Given the description of an element on the screen output the (x, y) to click on. 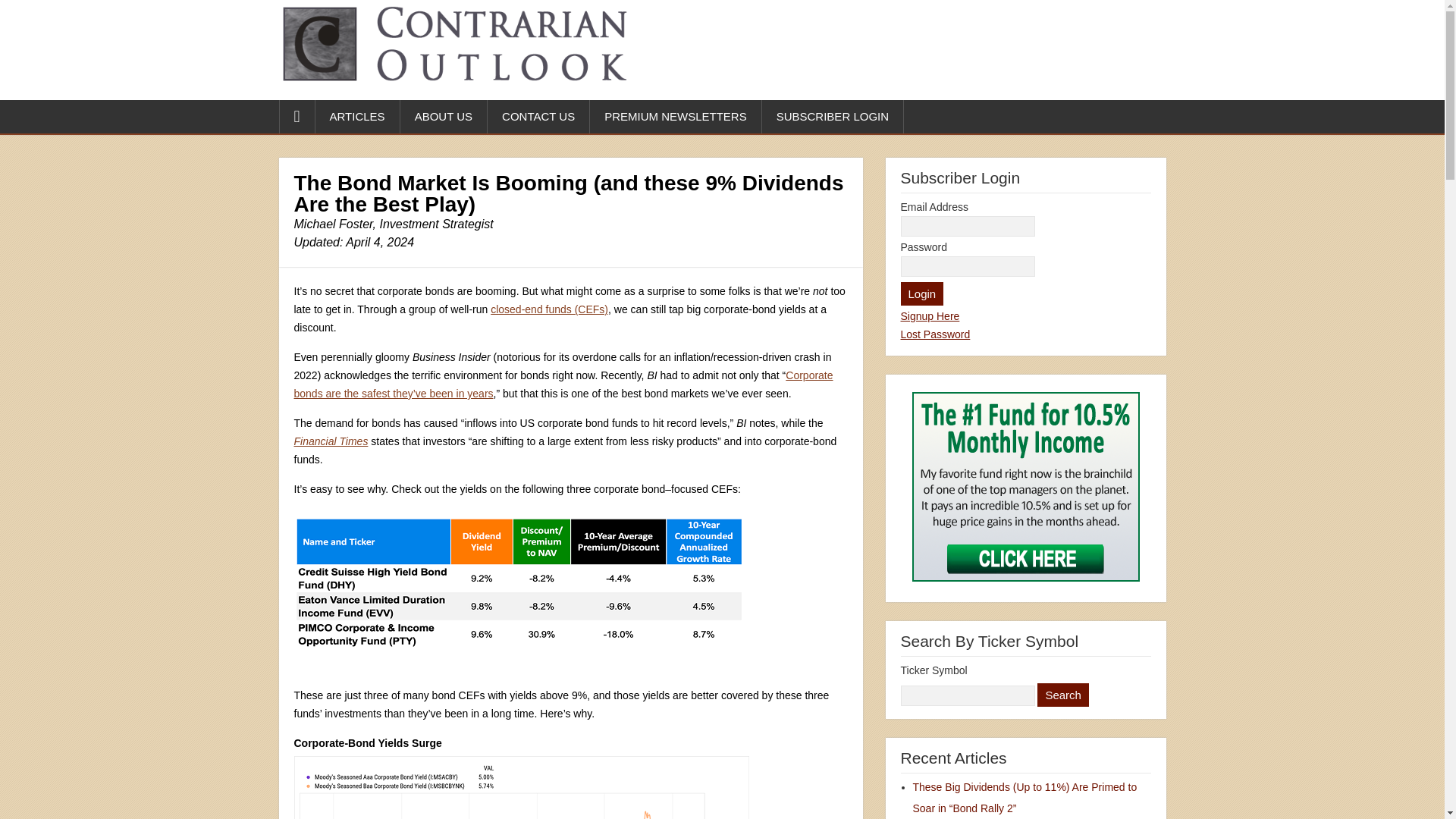
SUBSCRIBER LOGIN (832, 116)
ABOUT US (443, 116)
Login (922, 293)
Login (922, 293)
Search (1062, 694)
Lost Password (936, 334)
PREMIUM NEWSLETTERS (675, 116)
Search (1062, 694)
Signup Here (930, 316)
CONTACT US (538, 116)
ARTICLES (357, 116)
Financial Times (331, 440)
